Given the description of an element on the screen output the (x, y) to click on. 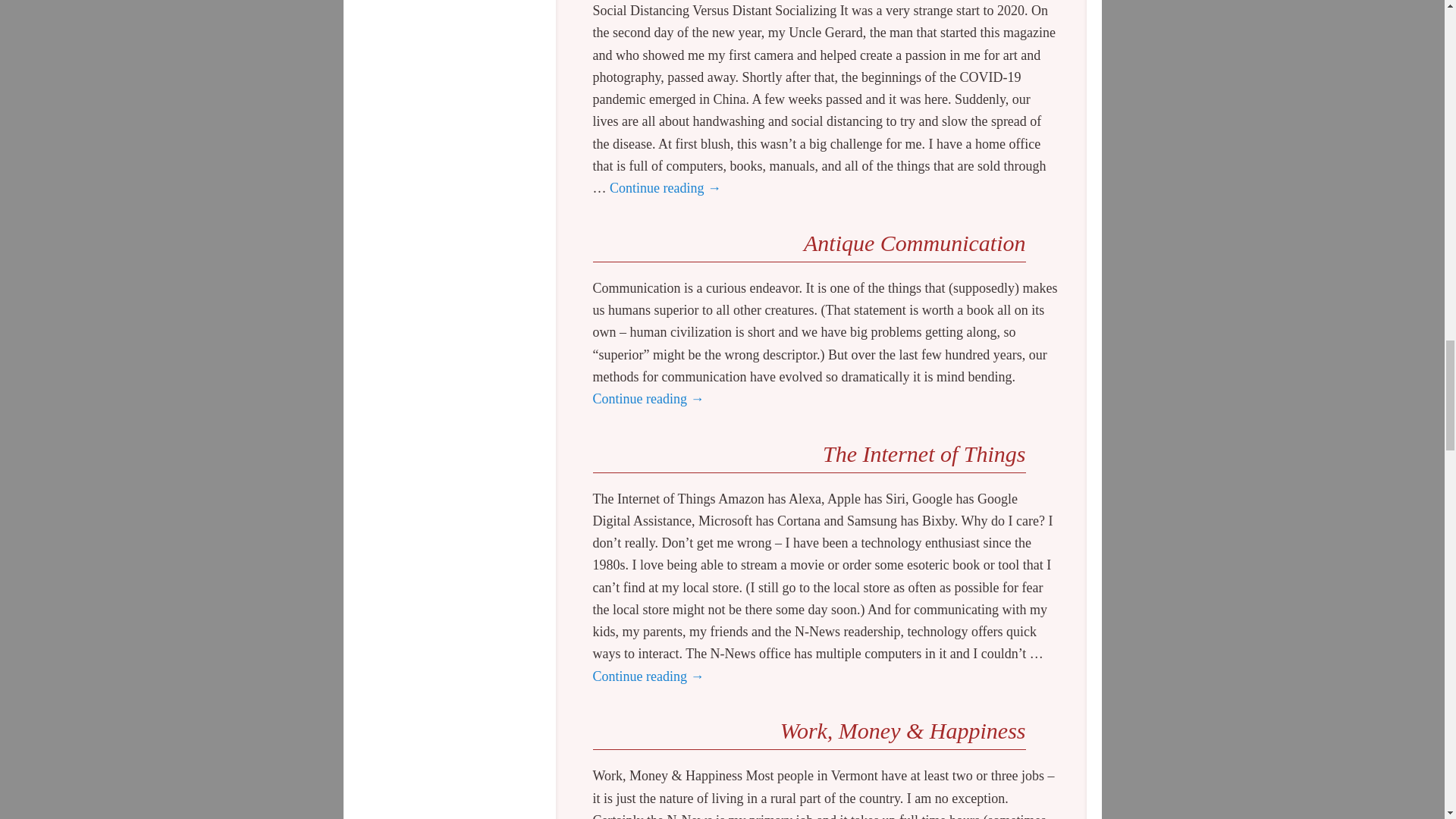
Antique Communication (914, 242)
Permalink to The Internet of Things (924, 453)
The Internet of Things (924, 453)
Permalink to Antique Communication (914, 242)
